Given the description of an element on the screen output the (x, y) to click on. 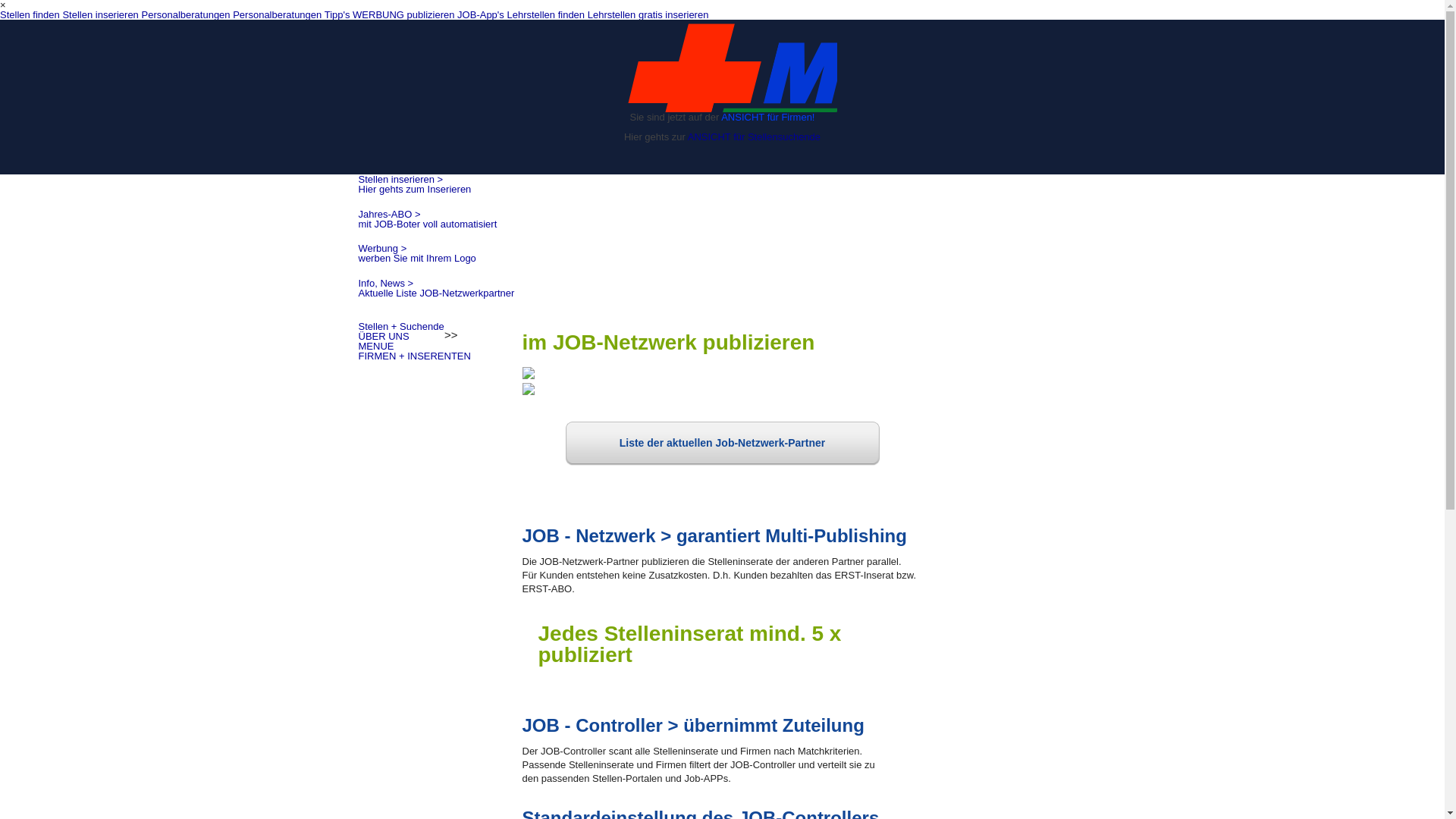
Lehrstellen finden Element type: text (545, 14)
mit JOB-Boter voll automatisiert Element type: text (426, 223)
Info, News > Element type: text (385, 282)
JOB-App's Element type: text (480, 14)
www.StellenAnzeiger.ch Element type: text (722, 67)
Stellen + Suchende Element type: text (400, 326)
Stellen finden Element type: text (29, 14)
Lehrstellen gratis inserieren Element type: text (648, 14)
WERBUNG publizieren Element type: text (403, 14)
MENUE
FIRMEN + INSERENTEN Element type: text (413, 350)
Stellen inserieren Element type: text (100, 14)
Werbung > Element type: text (381, 248)
Aktuelle Liste JOB-Netzwerkpartner Element type: text (435, 292)
Hier gehts zum Inserieren Element type: text (413, 188)
werben Sie mit Ihrem Logo Element type: text (416, 257)
Liste der aktuellen Job-Netzwerk-Partner Element type: text (722, 443)
Stellen inserieren > Element type: text (399, 179)
Personalberatungen Tipp's Element type: text (290, 14)
Jahres-ABO > Element type: text (388, 213)
Personalberatungen Element type: text (185, 14)
